Given the description of an element on the screen output the (x, y) to click on. 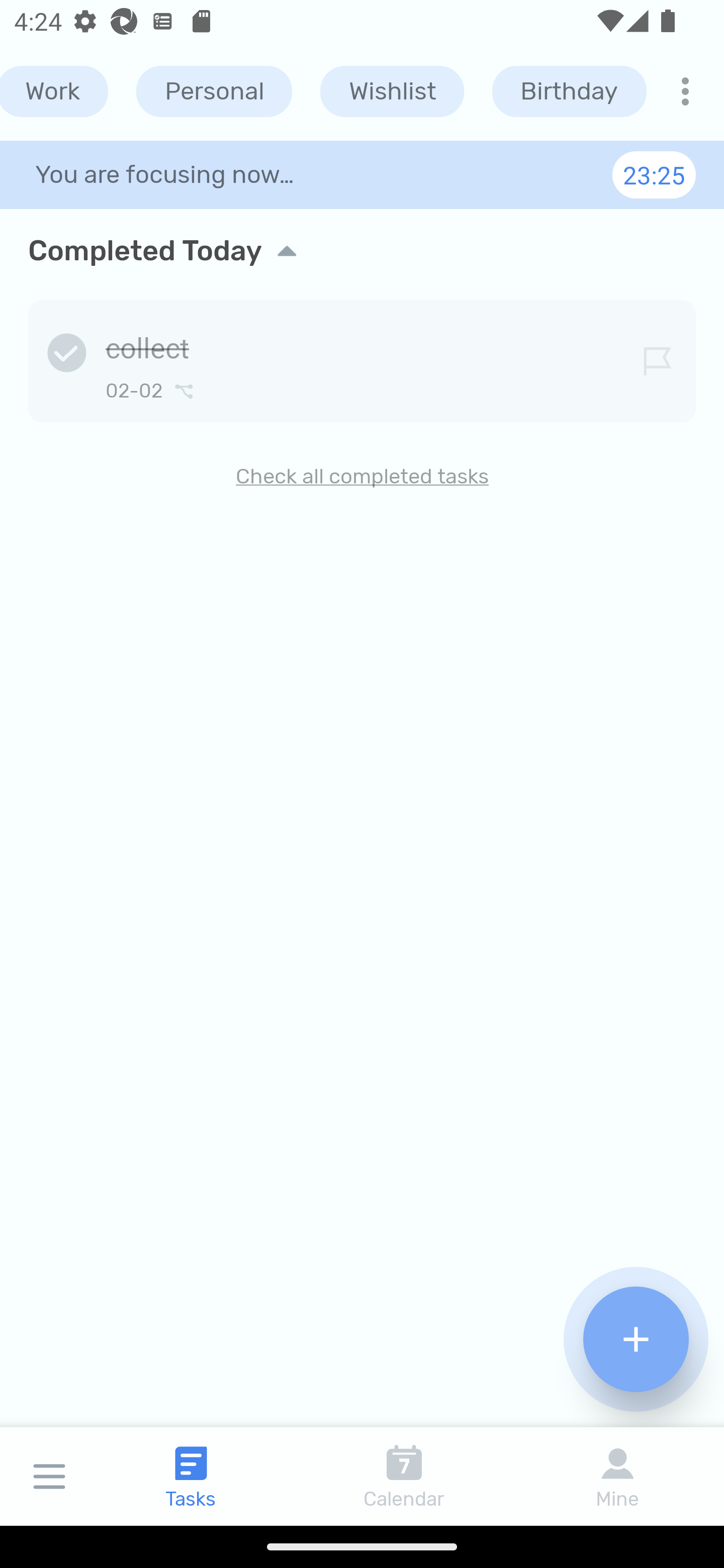
Work (53, 91)
Personal (213, 91)
Wishlist (392, 91)
Birthday (569, 91)
You are focusing now… 23:25 (362, 174)
Completed Today (362, 250)
collect 02-02 (362, 358)
Check all completed tasks (361, 476)
Tasks (190, 1475)
Calendar (404, 1475)
Mine (617, 1475)
